Given the description of an element on the screen output the (x, y) to click on. 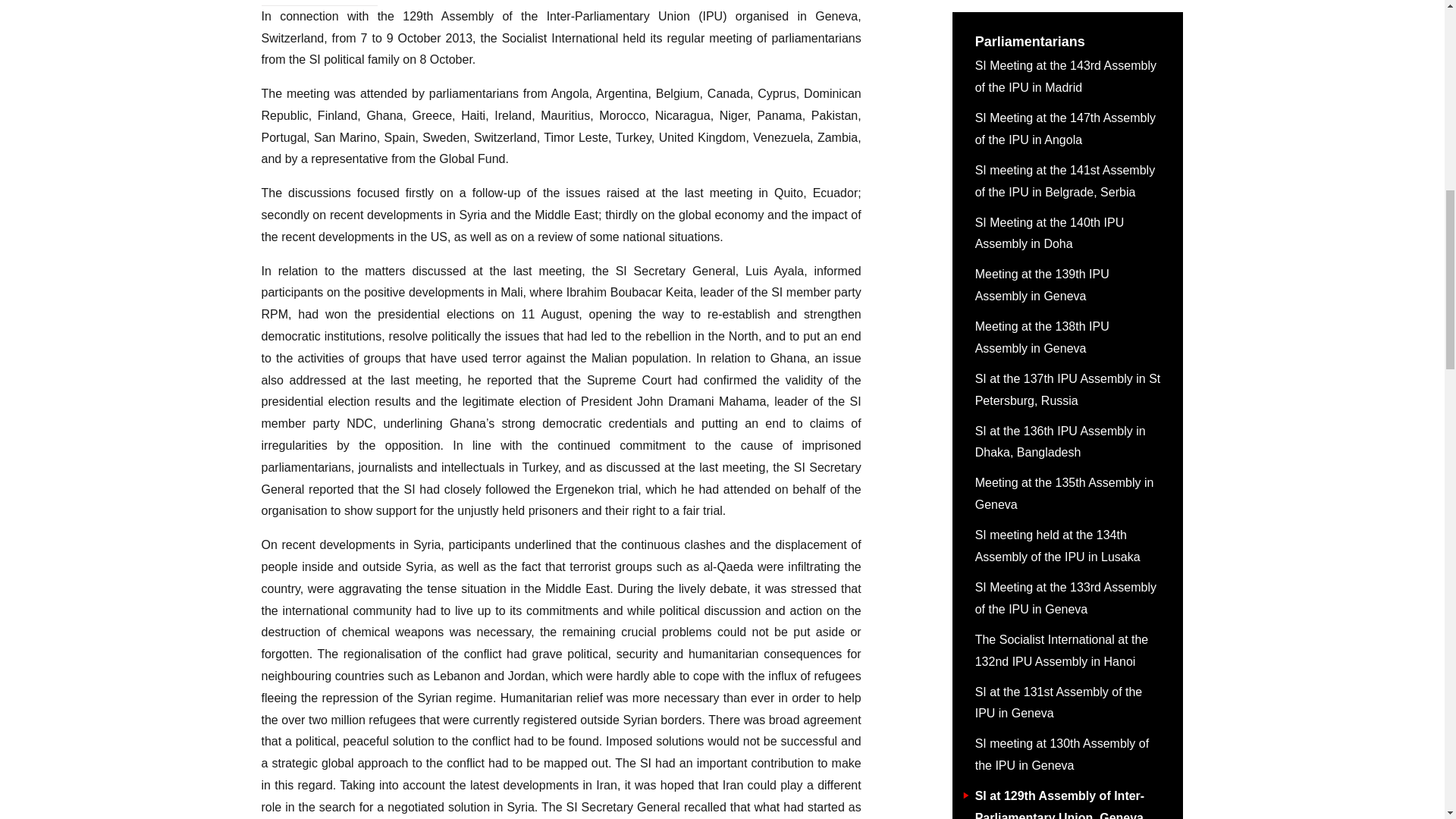
SI Meeting at the 143rd Assembly of the IPU in Madrid (1067, 33)
SI Meeting at the 140th IPU Assembly in Doha (1067, 190)
SI Meeting at the 147th Assembly of the IPU in Angola (1067, 85)
